Given the description of an element on the screen output the (x, y) to click on. 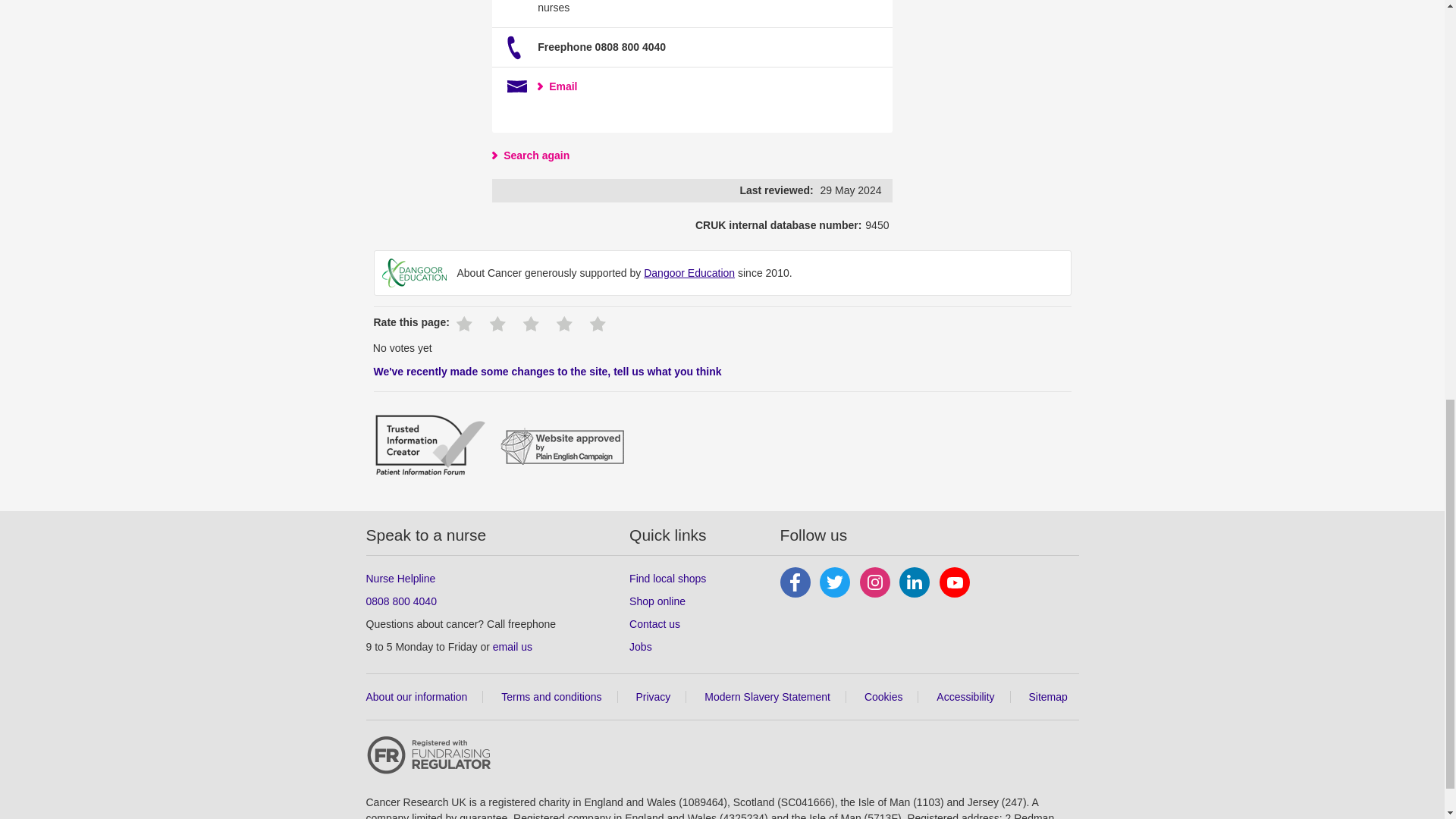
Visit Dangoor Education (689, 272)
Visit the Plain English Campaign (562, 447)
Dangoor Education (413, 272)
Visit the Patient Information Forum (429, 447)
